Given the description of an element on the screen output the (x, y) to click on. 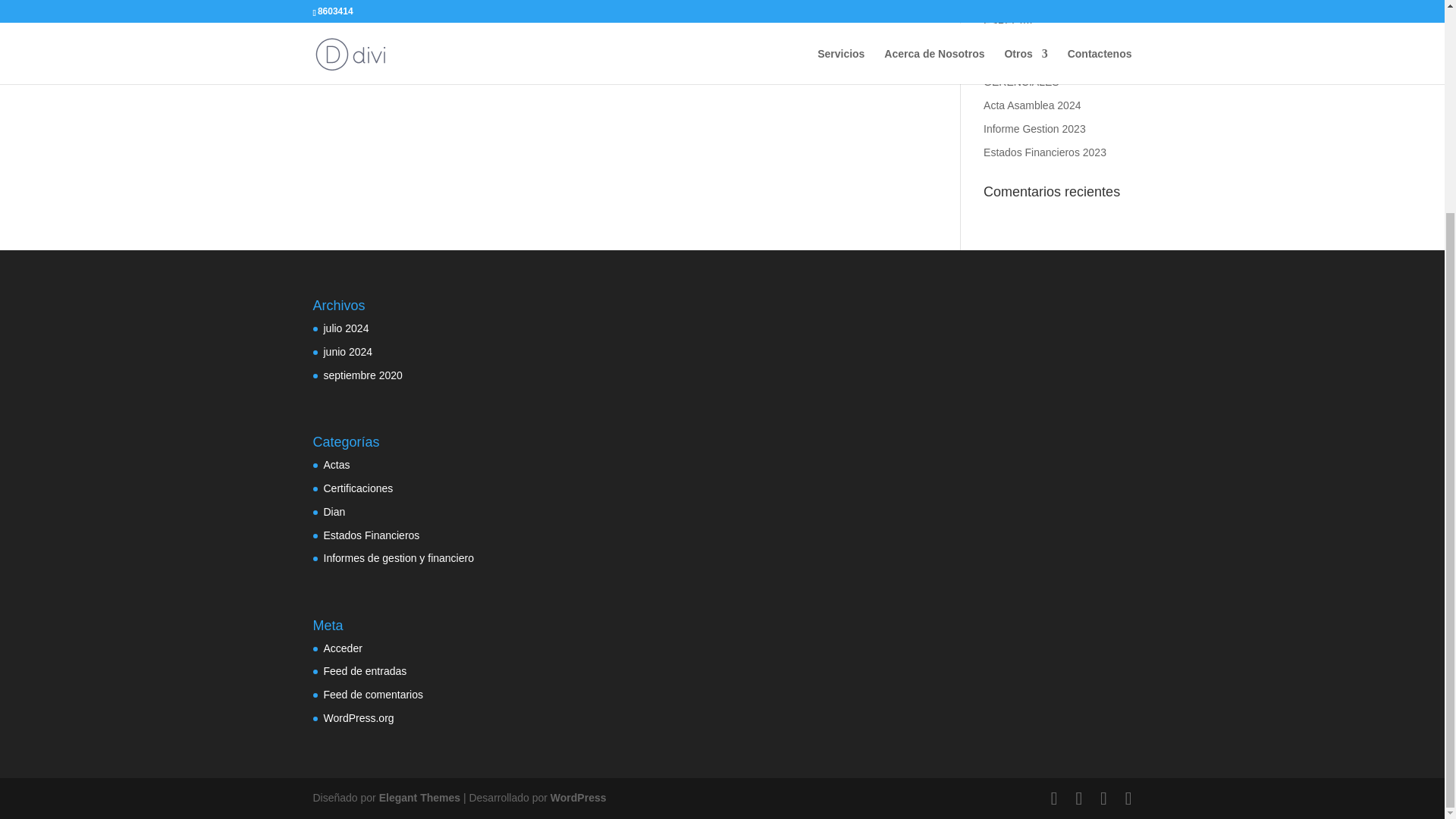
Premium WordPress Themes (419, 797)
